Given the description of an element on the screen output the (x, y) to click on. 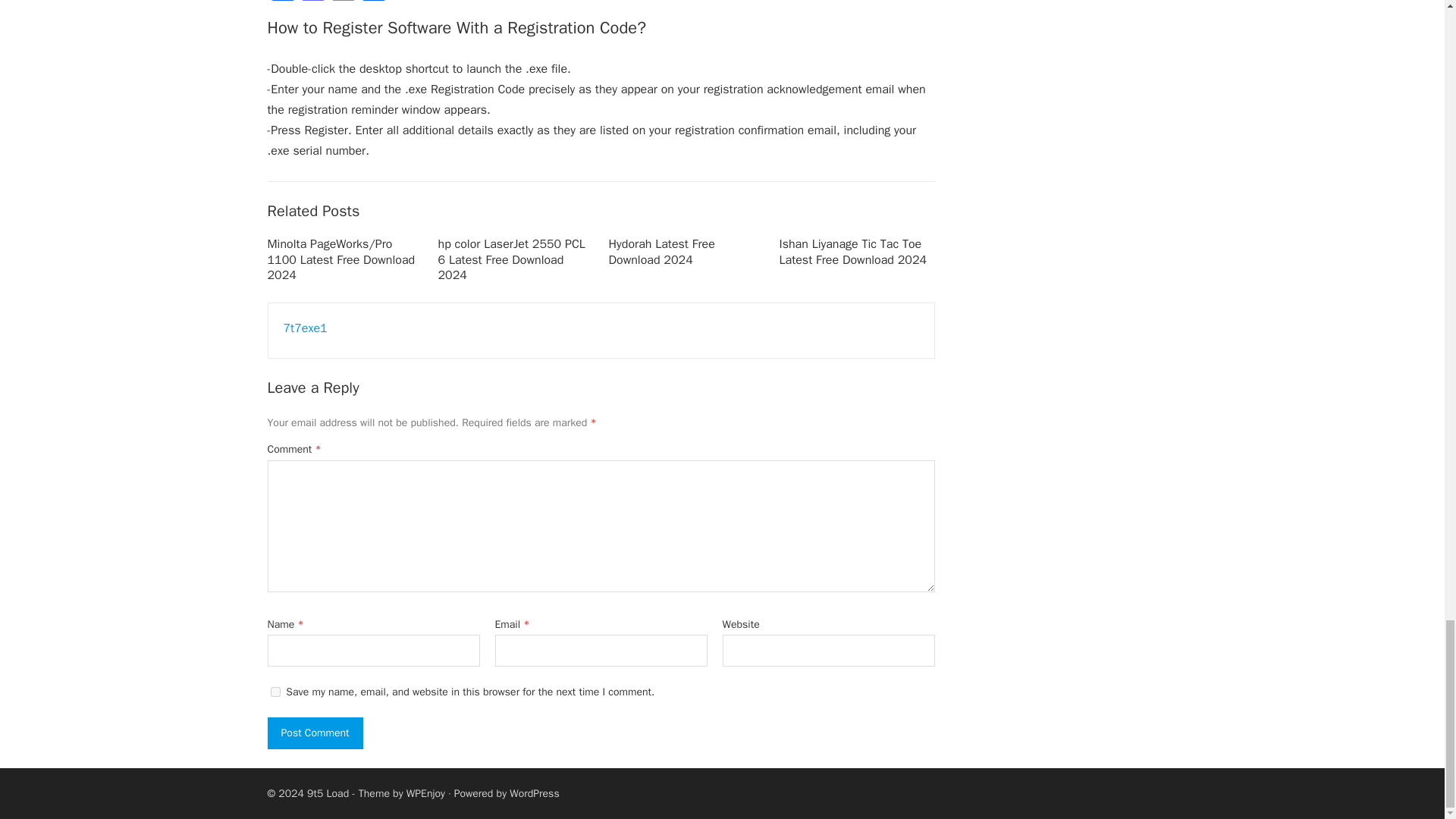
yes (274, 691)
Post Comment (314, 733)
9t5 Load (328, 793)
Email (342, 2)
Mastodon (312, 2)
Mastodon (312, 2)
hp color LaserJet 2550 PCL 6 Latest Free Download 2024 (511, 259)
WPEnjoy (425, 793)
7t7exe1 (305, 328)
Ishan Liyanage Tic Tac Toe Latest Free Download 2024 (852, 251)
Facebook (281, 2)
WordPress (534, 793)
Post Comment (314, 733)
Email (342, 2)
Facebook (281, 2)
